Given the description of an element on the screen output the (x, y) to click on. 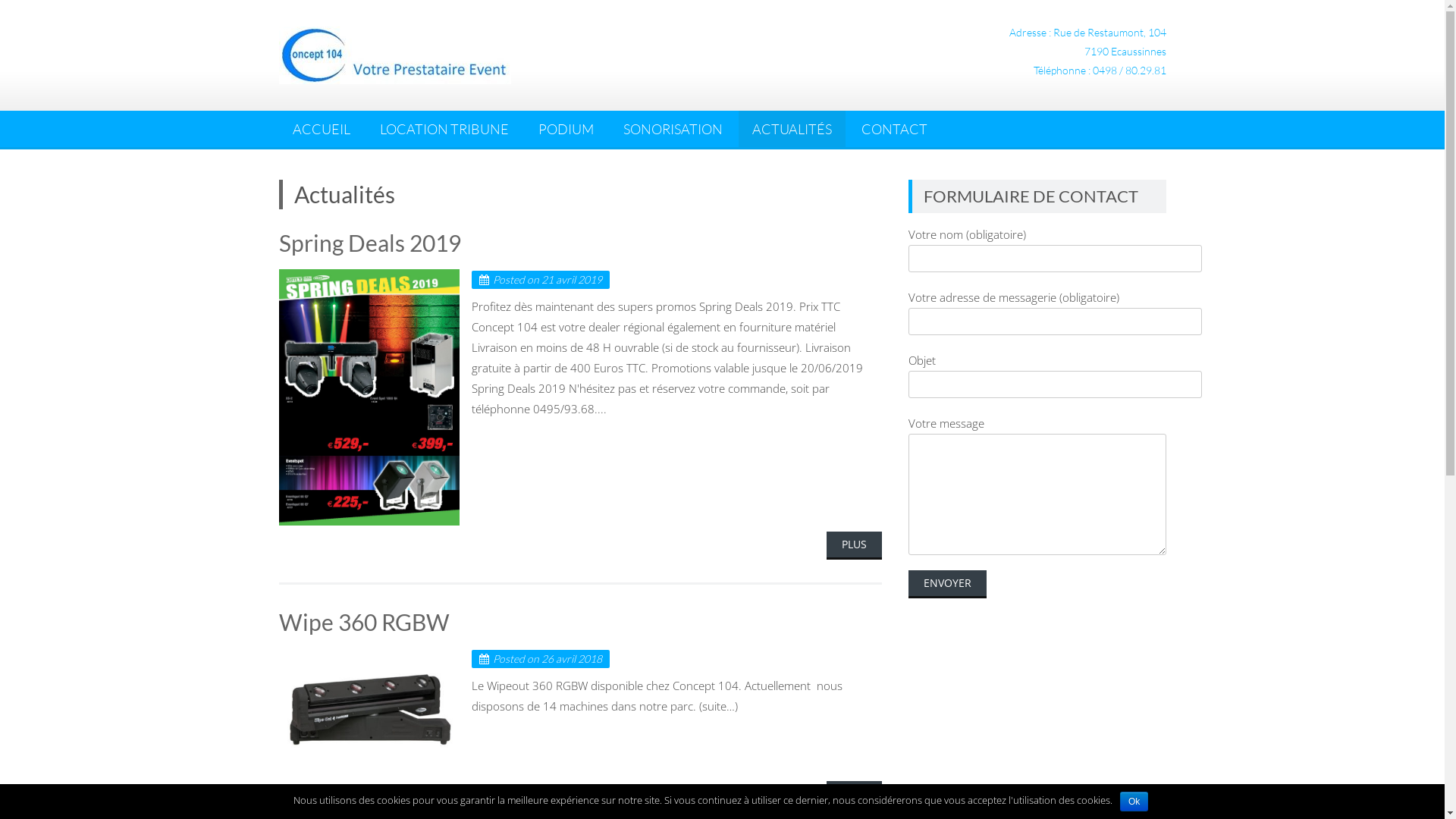
PODIUM Element type: text (565, 128)
PLUS Element type: text (853, 795)
Wipe 360 RGBW Element type: text (364, 621)
26 avril 2018 Element type: text (571, 658)
SONORISATION Element type: text (672, 128)
PLUS Element type: text (853, 545)
Ok Element type: text (1134, 801)
ACCUEIL Element type: text (321, 128)
Spring Deals 2019 Element type: text (370, 242)
Envoyer Element type: text (947, 584)
CONTACT Element type: text (894, 128)
LOCATION TRIBUNE Element type: text (443, 128)
21 avril 2019 Element type: text (571, 279)
